Given the description of an element on the screen output the (x, y) to click on. 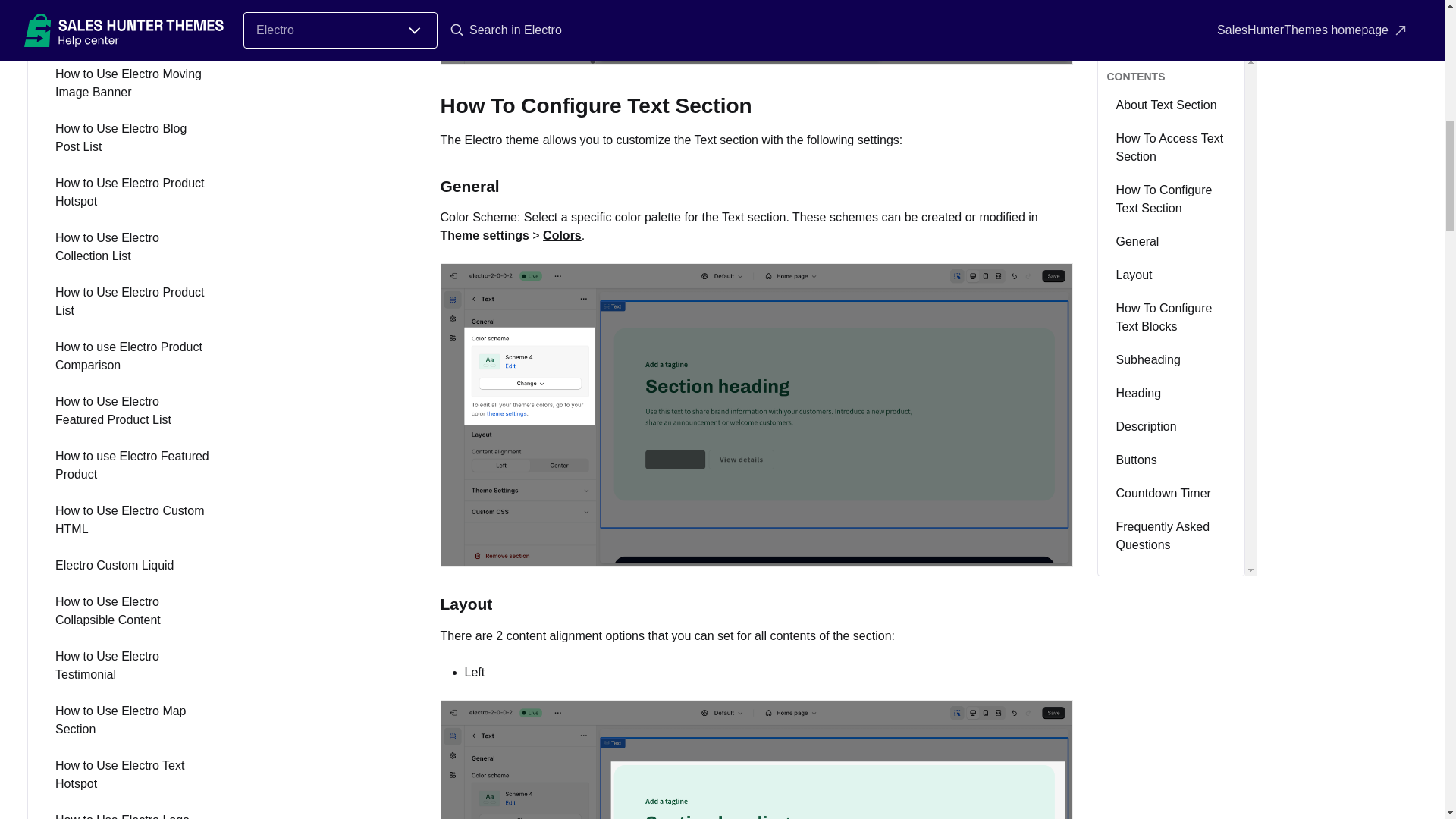
How to Use Electro Blog Post List (132, 137)
How to Use Electro Image With Text Columns Section (132, 28)
How to Use Electro Product Hotspot (132, 192)
How to Use Electro Product List (132, 301)
How to Use Electro Moving Image Banner (132, 83)
How to Use Electro Collection List (132, 247)
Colors (561, 235)
